Given the description of an element on the screen output the (x, y) to click on. 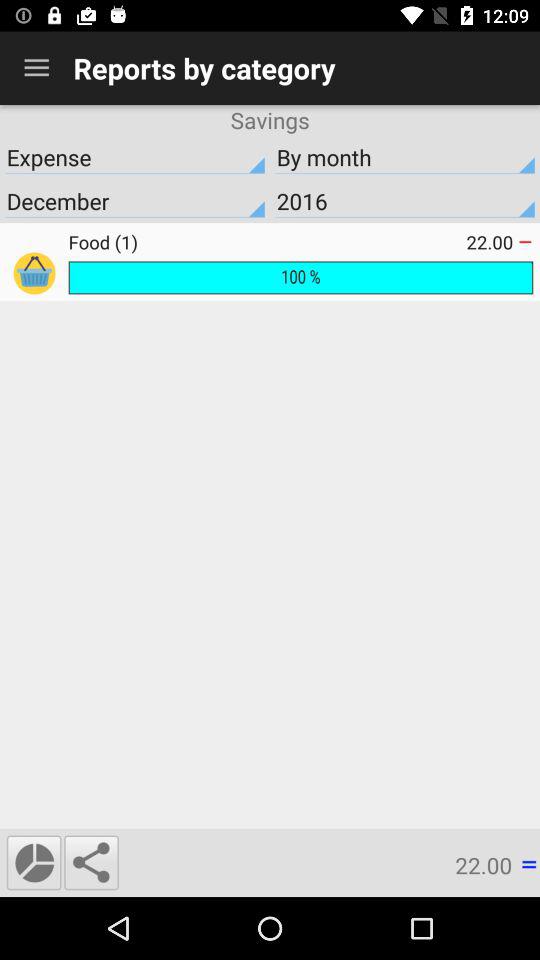
select icon below food (1) icon (300, 277)
